Given the description of an element on the screen output the (x, y) to click on. 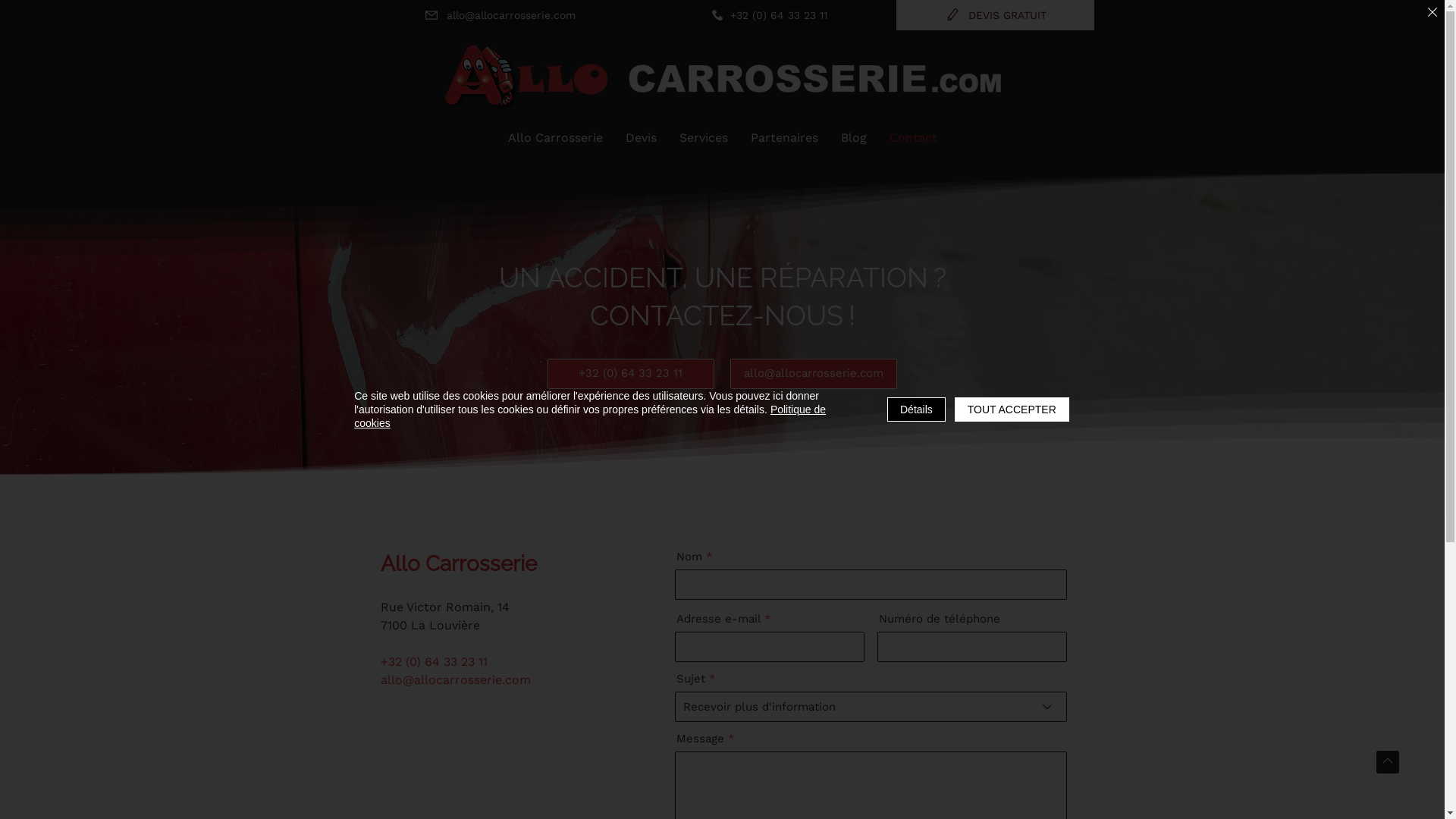
Contact Element type: text (913, 137)
Services Element type: text (702, 137)
Blog Element type: text (853, 137)
Partenaires Element type: text (783, 137)
+32 (0) 64 33 23 11 Element type: text (768, 14)
Politique de cookies Element type: text (589, 416)
TOUT ACCEPTER Element type: text (1011, 409)
+32 (0) 64 33 23 11 Element type: text (630, 373)
+32 (0) 64 33 23 11 Element type: text (433, 661)
Devis Element type: text (641, 137)
Allo Carrosserie Element type: text (554, 137)
allo@allocarrosserie.com Element type: text (455, 679)
allo@allocarrosserie.com Element type: text (812, 373)
DEVIS GRATUIT Element type: text (996, 14)
allo@allocarrosserie.com Element type: text (498, 14)
